Given the description of an element on the screen output the (x, y) to click on. 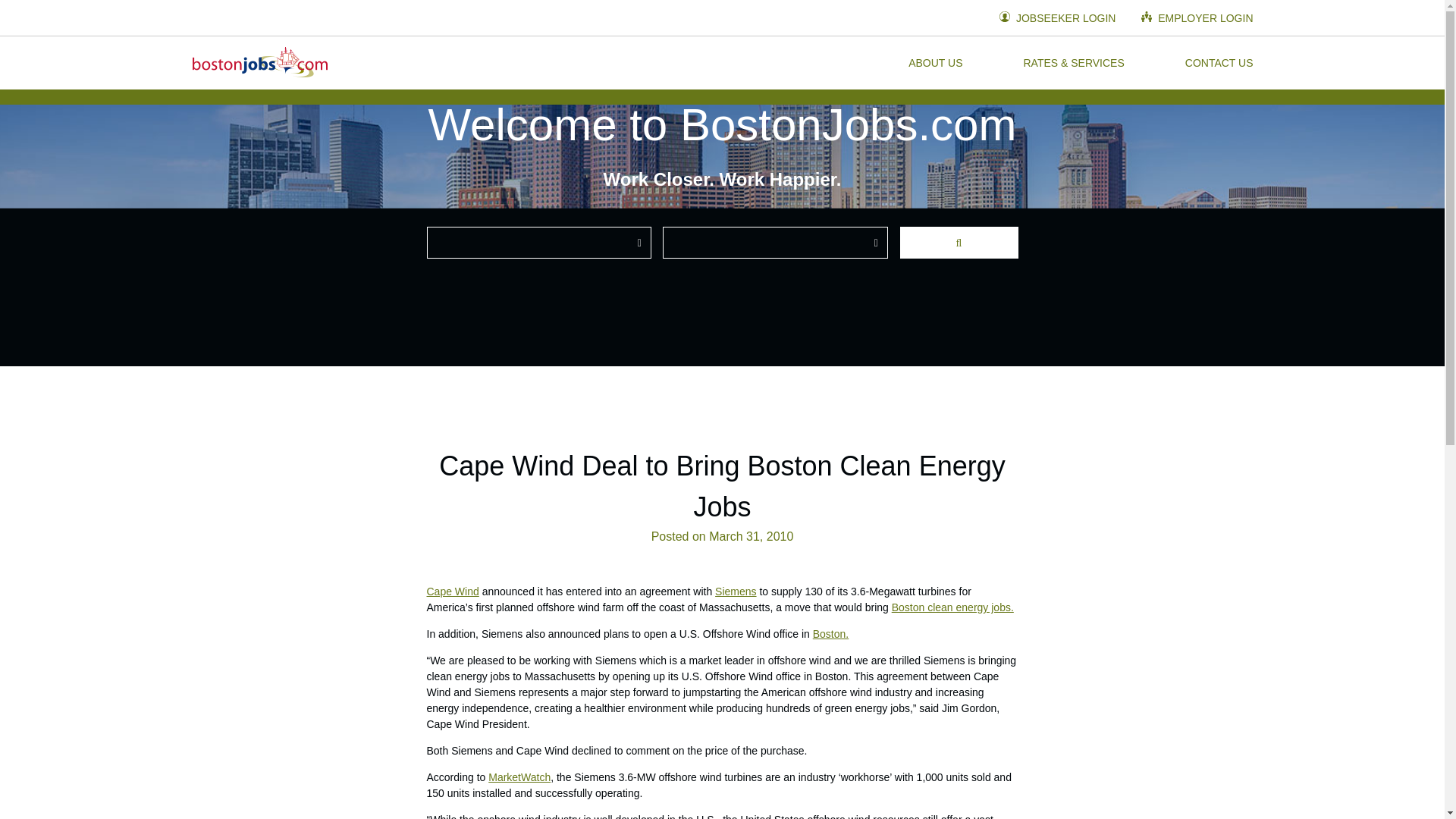
JOBSEEKER LOGIN (1056, 18)
Boston Jobs (258, 62)
MarketWatch (518, 776)
ABOUT US (935, 62)
Siemens (734, 591)
Boston clean energy jobs. (952, 607)
EMPLOYER LOGIN (1196, 18)
Cape Wind (452, 591)
CONTACT US (1219, 62)
Boston. (830, 633)
